Given the description of an element on the screen output the (x, y) to click on. 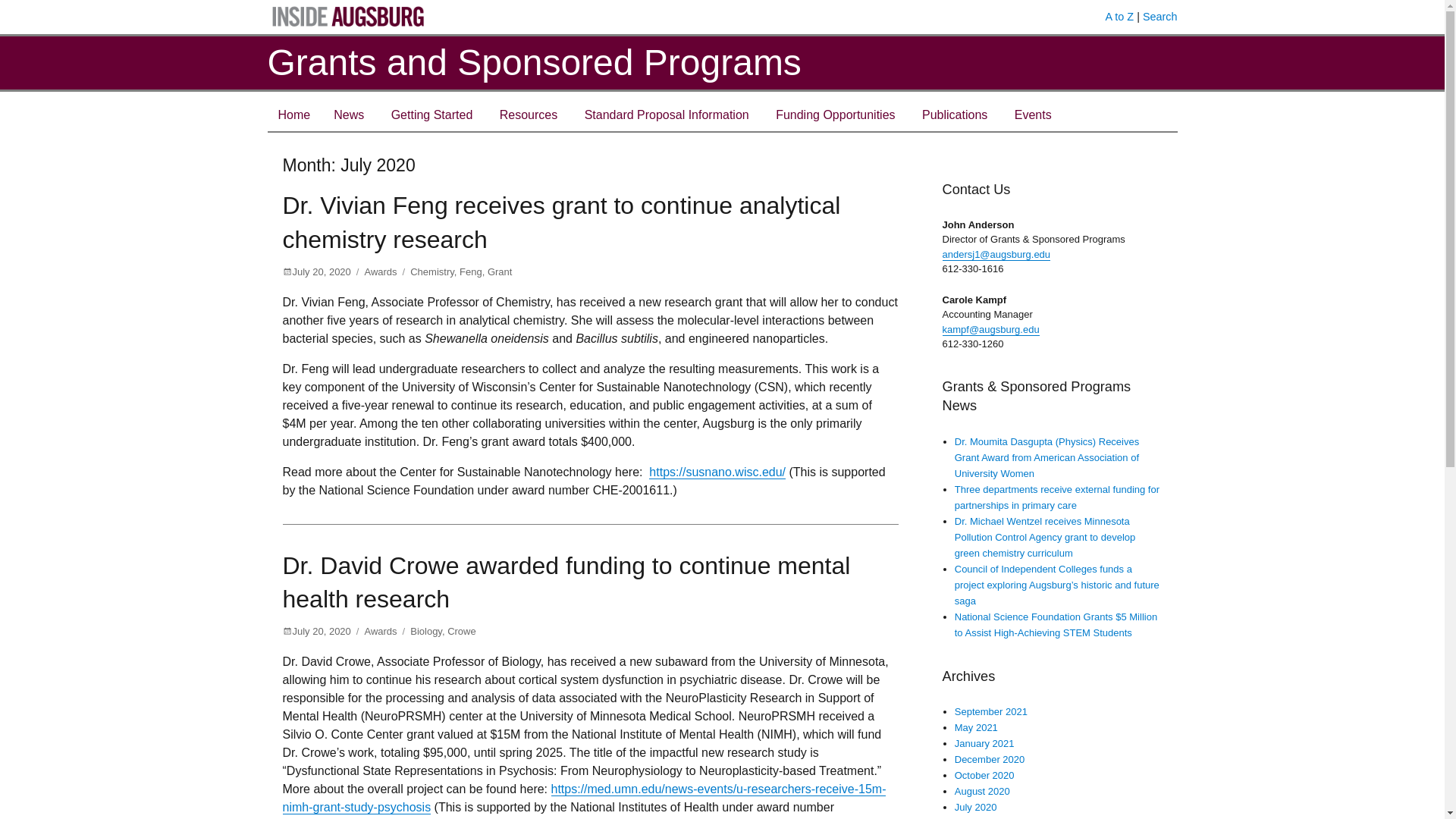
Home (293, 115)
Chemistry (432, 271)
Feng (470, 271)
July 2020 (976, 807)
Search (1159, 16)
January 2021 (984, 743)
Funding Opportunities (835, 115)
Awards (380, 631)
December 2020 (990, 758)
Standard Proposal Information (666, 115)
Getting Started (431, 115)
Resources (528, 115)
News (348, 115)
